Given the description of an element on the screen output the (x, y) to click on. 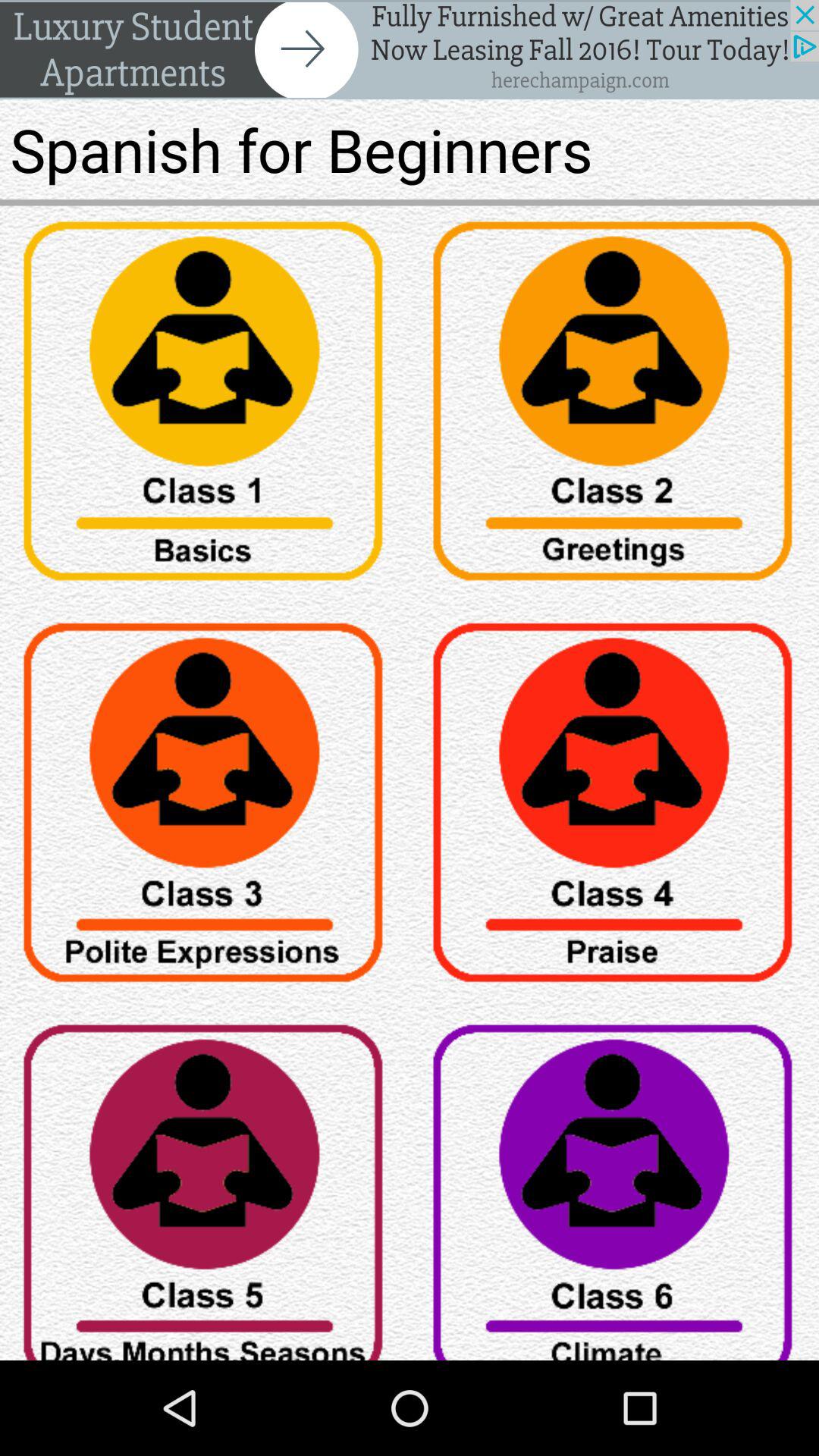
go to class 5 (204, 1184)
